Given the description of an element on the screen output the (x, y) to click on. 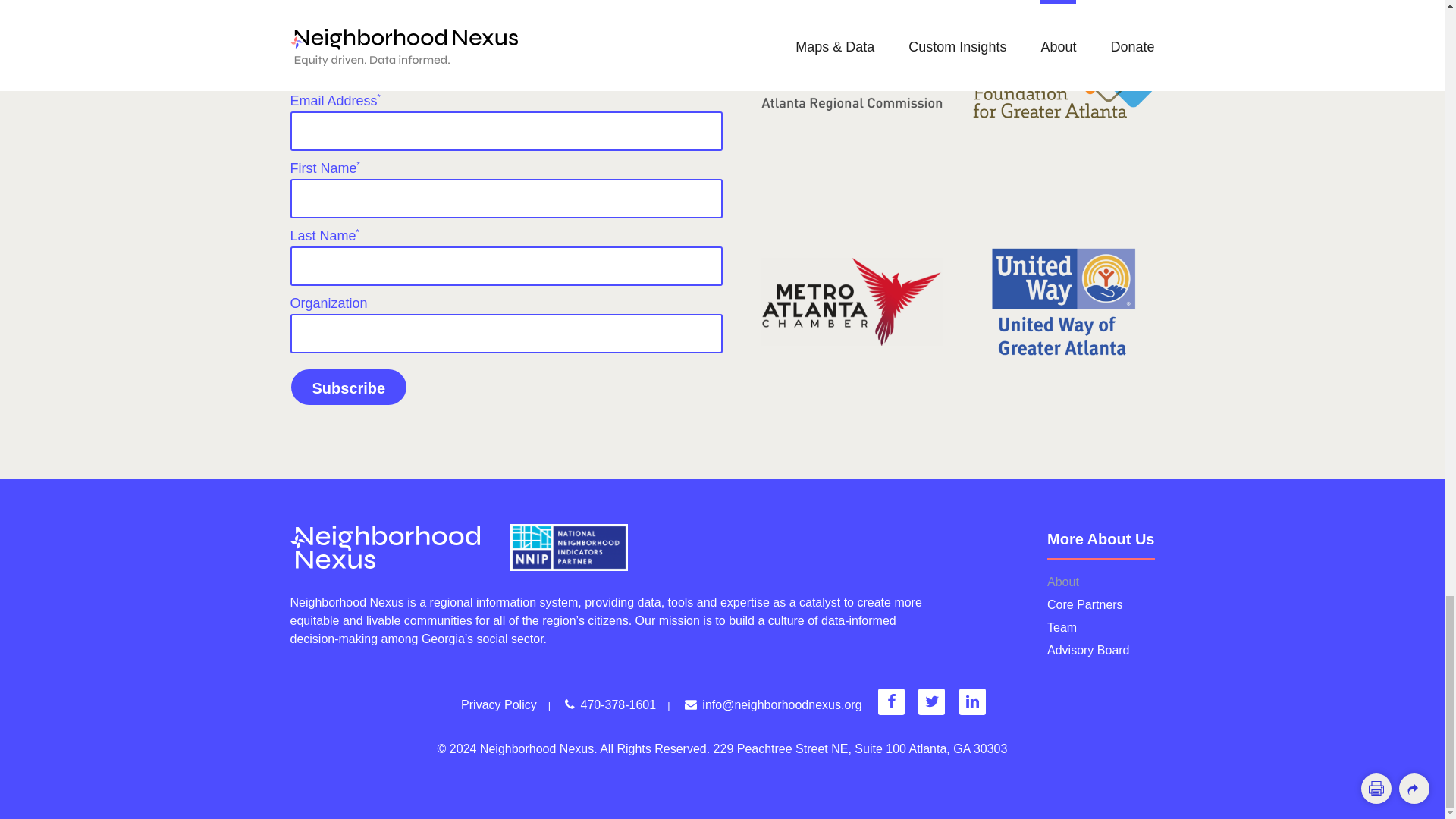
About (1100, 581)
Team (1100, 627)
Neighborhood Nexus (384, 546)
Core Partners (1100, 604)
470-378-1601 (610, 704)
Subscribe (349, 386)
Privacy Policy (498, 704)
Subscribe (349, 386)
Advisory Board (1100, 650)
